Given the description of an element on the screen output the (x, y) to click on. 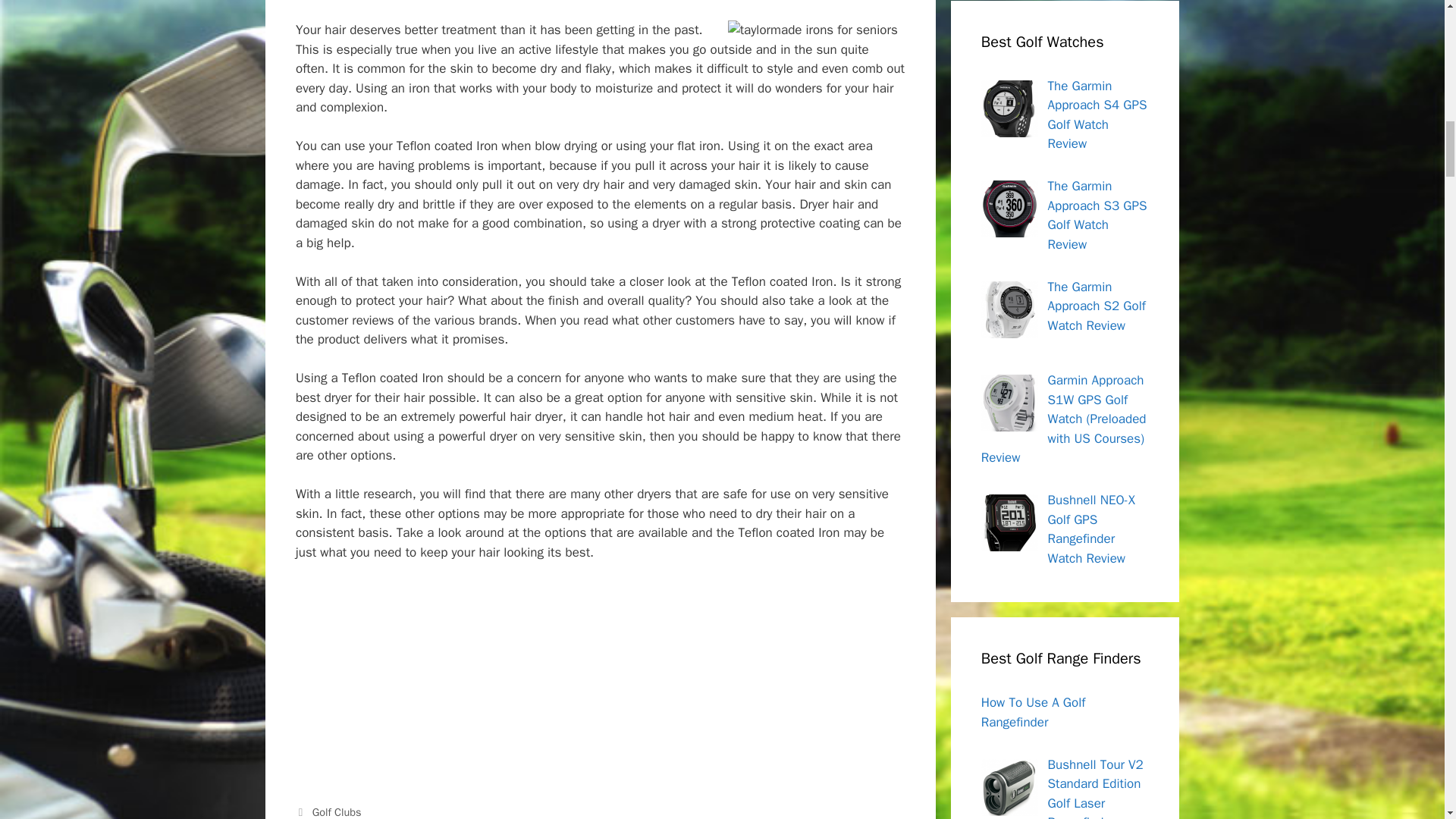
Golf Clubs (337, 812)
